Given the description of an element on the screen output the (x, y) to click on. 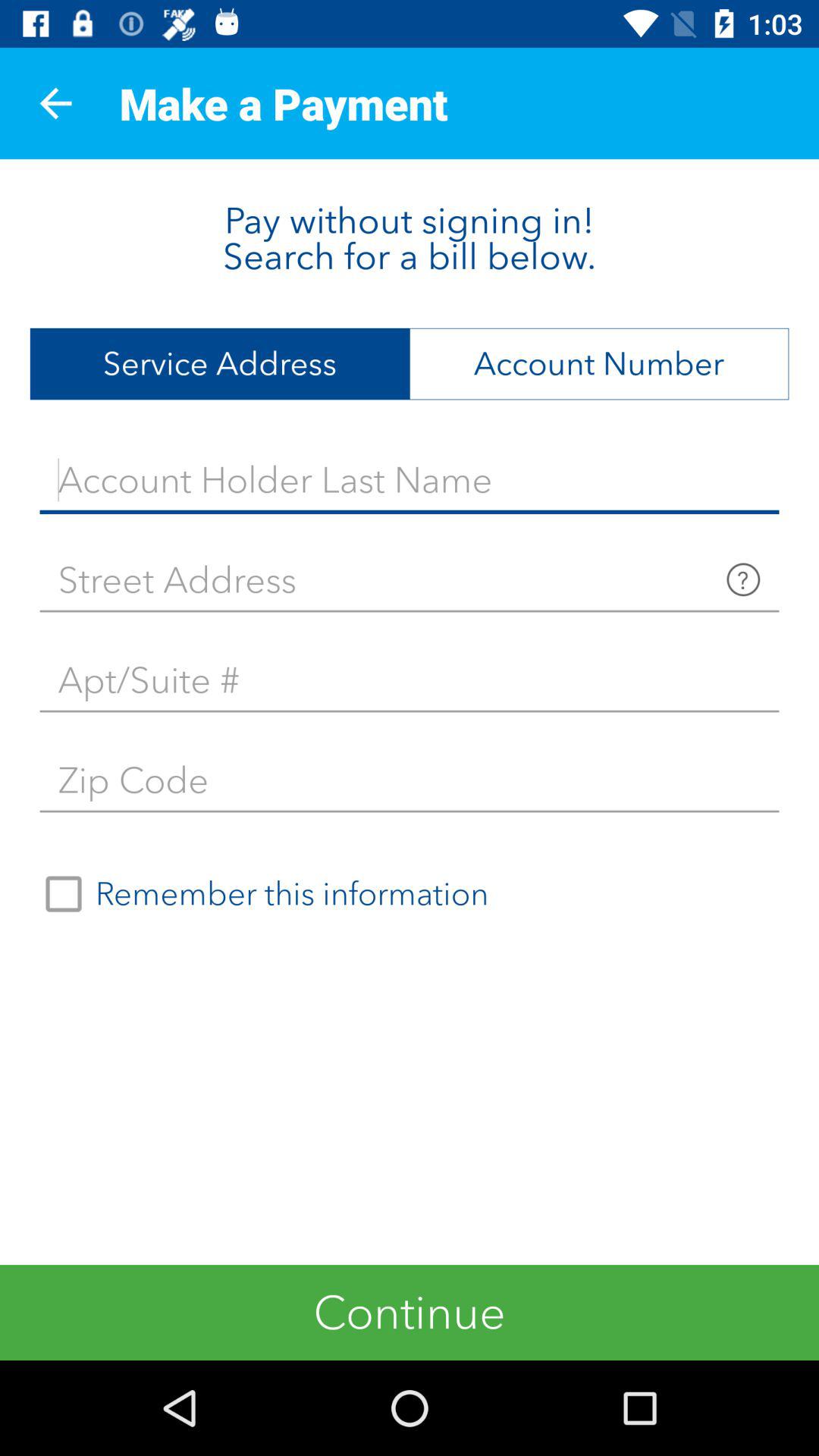
click the icon to the left of make a payment item (55, 103)
